Given the description of an element on the screen output the (x, y) to click on. 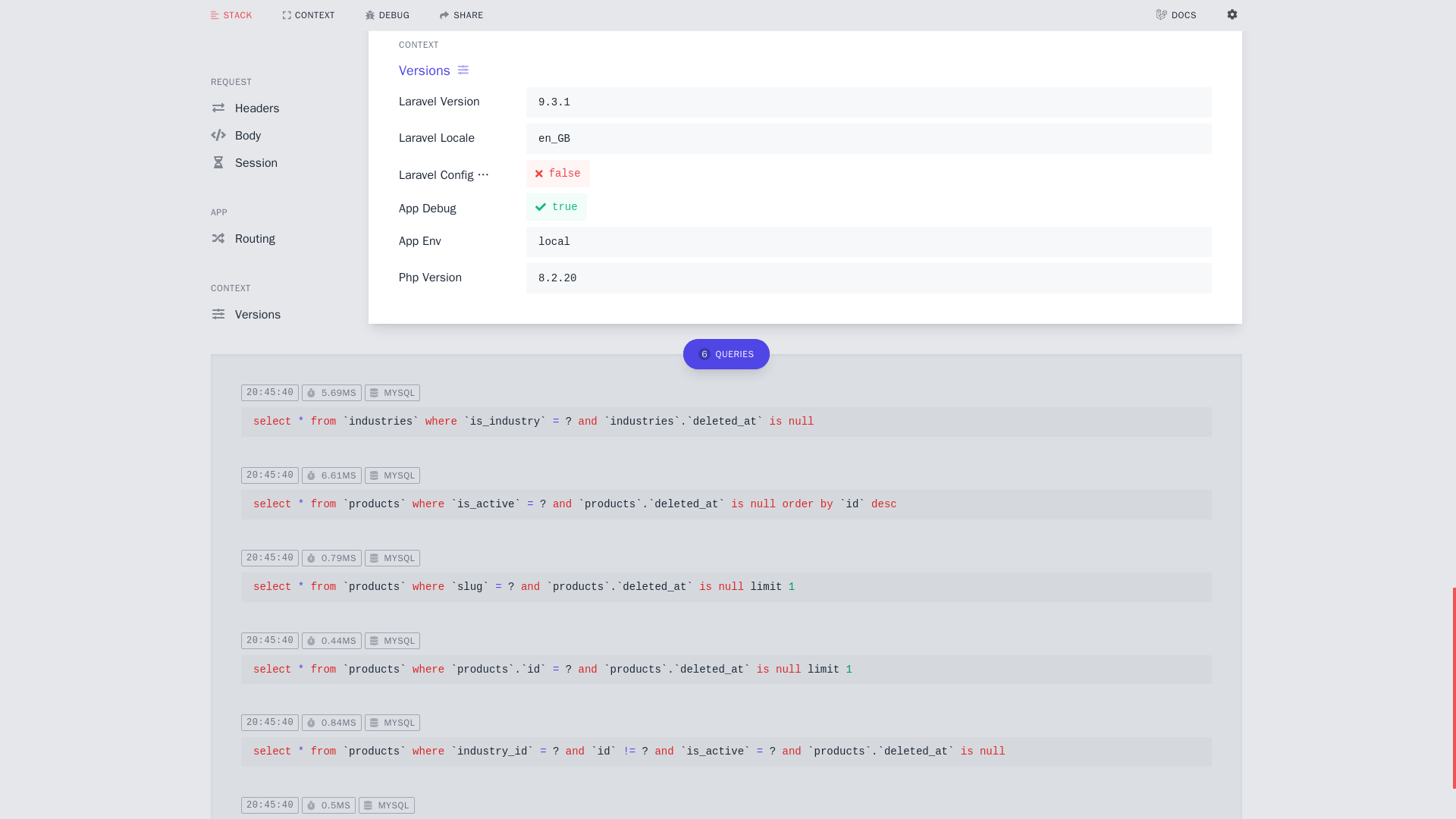
9.3.1 (868, 102)
local (868, 241)
8.2.20 (868, 278)
